Given the description of an element on the screen output the (x, y) to click on. 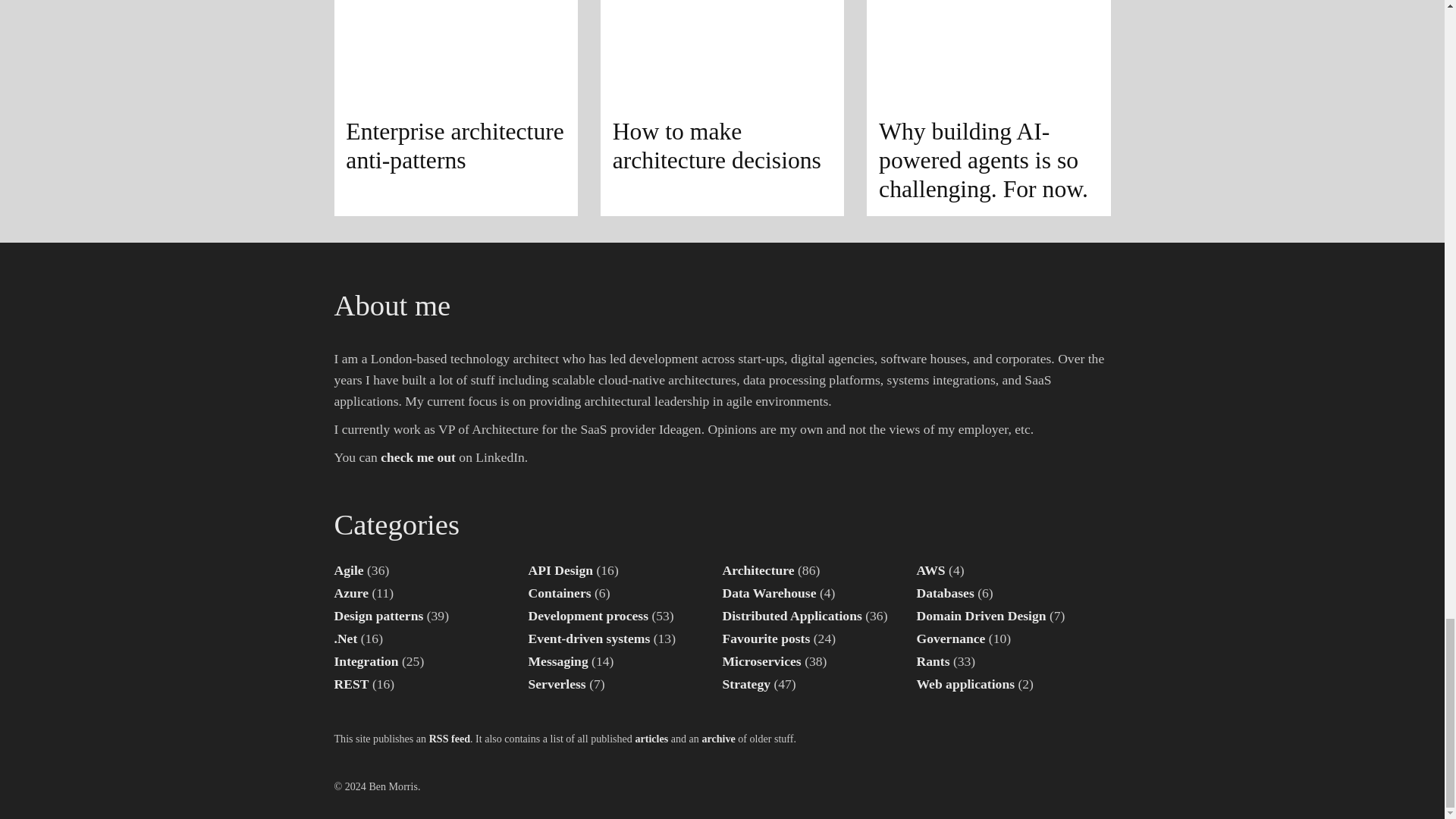
Azure (350, 592)
API Design (559, 570)
Rants (932, 661)
Design patterns (378, 615)
Development process (587, 615)
Architecture (757, 570)
check me out (417, 457)
Favourite posts (765, 638)
Event-driven systems (588, 638)
Governance (950, 638)
AWS (929, 570)
Enterprise architecture anti-patterns (454, 108)
Messaging (557, 661)
Serverless (556, 683)
Why building AI-powered agents is so challenging. For now. (987, 108)
